Given the description of an element on the screen output the (x, y) to click on. 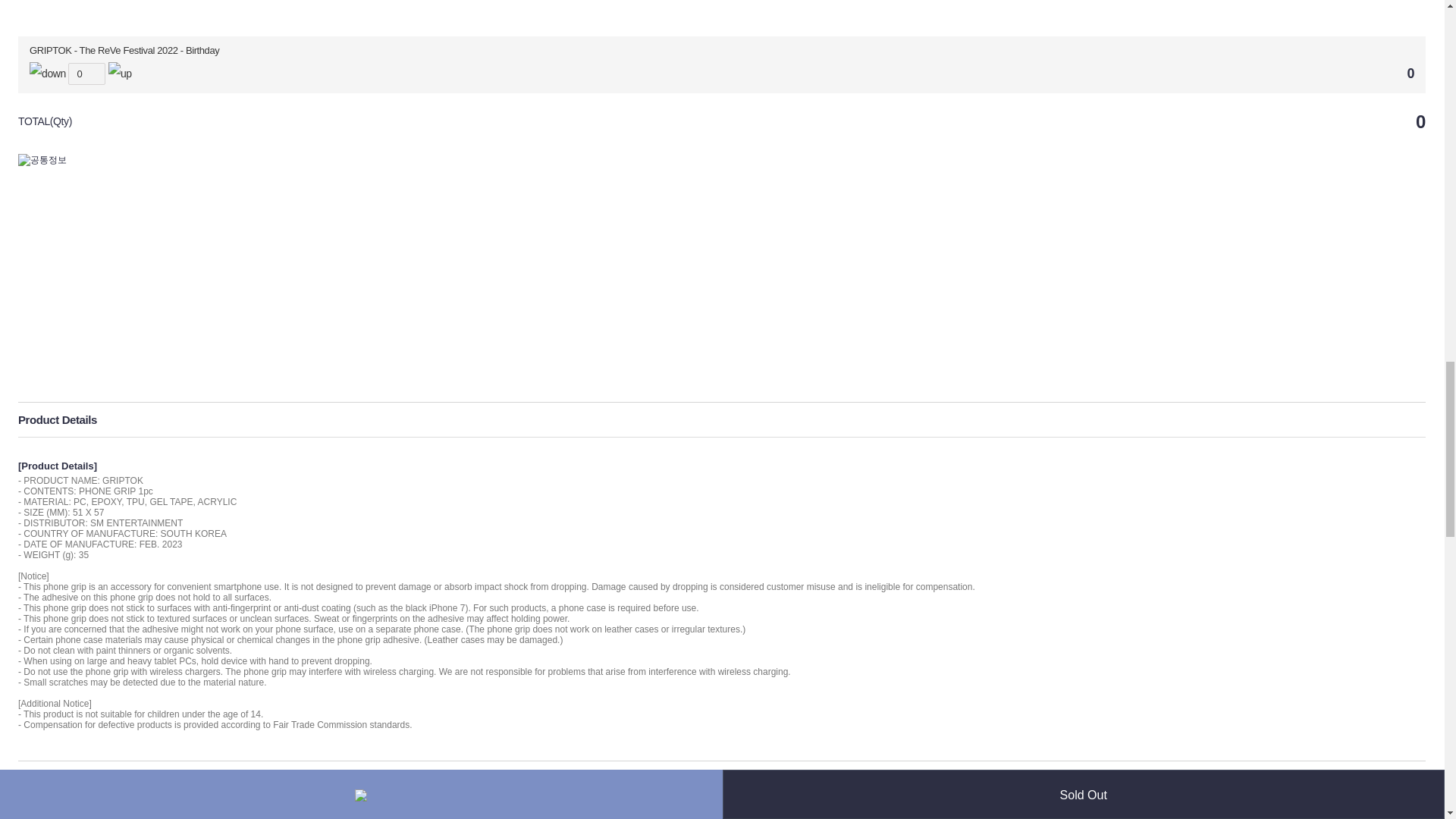
0 (86, 74)
